Given the description of an element on the screen output the (x, y) to click on. 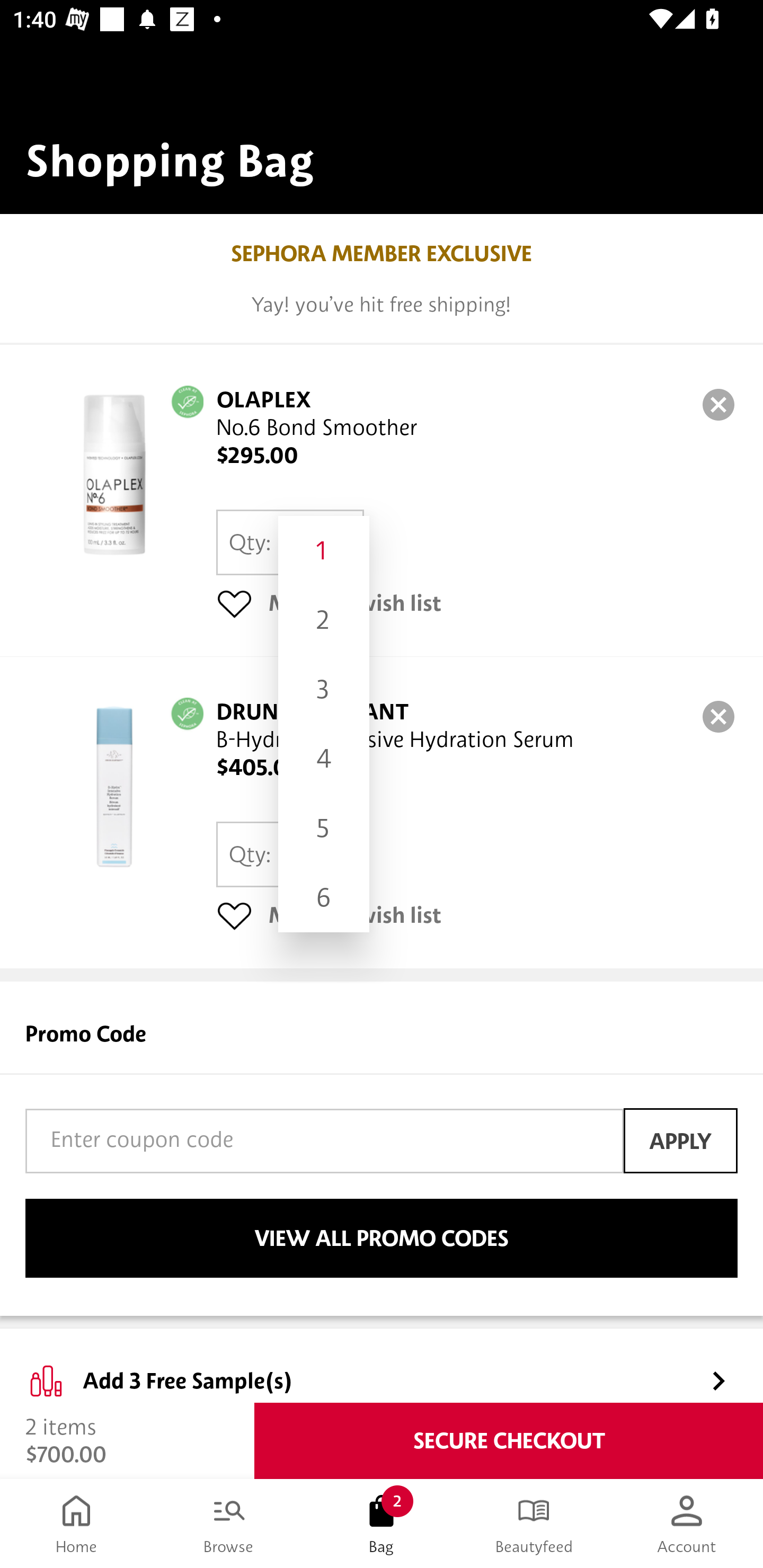
1 (323, 549)
2 (323, 619)
3 (323, 689)
4 (323, 758)
5 (323, 827)
6 (323, 897)
